Given the description of an element on the screen output the (x, y) to click on. 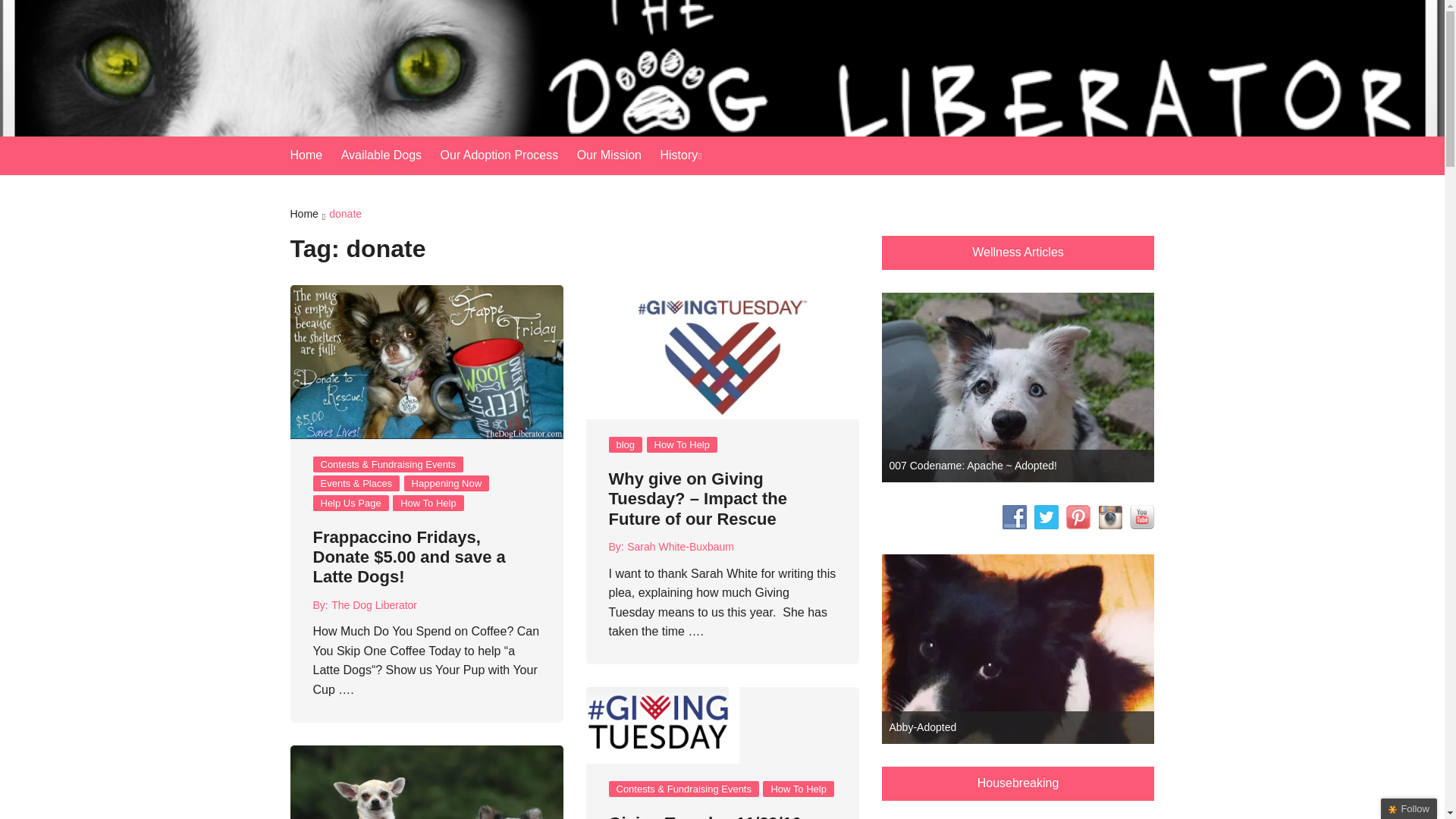
Available Dogs (388, 155)
How To Help (681, 444)
History (687, 155)
Home (309, 215)
 Twitter (1045, 517)
Help Us Page (350, 503)
Our Mission (616, 155)
 YouTube (1141, 517)
How To Help (428, 503)
Home (313, 155)
